Given the description of an element on the screen output the (x, y) to click on. 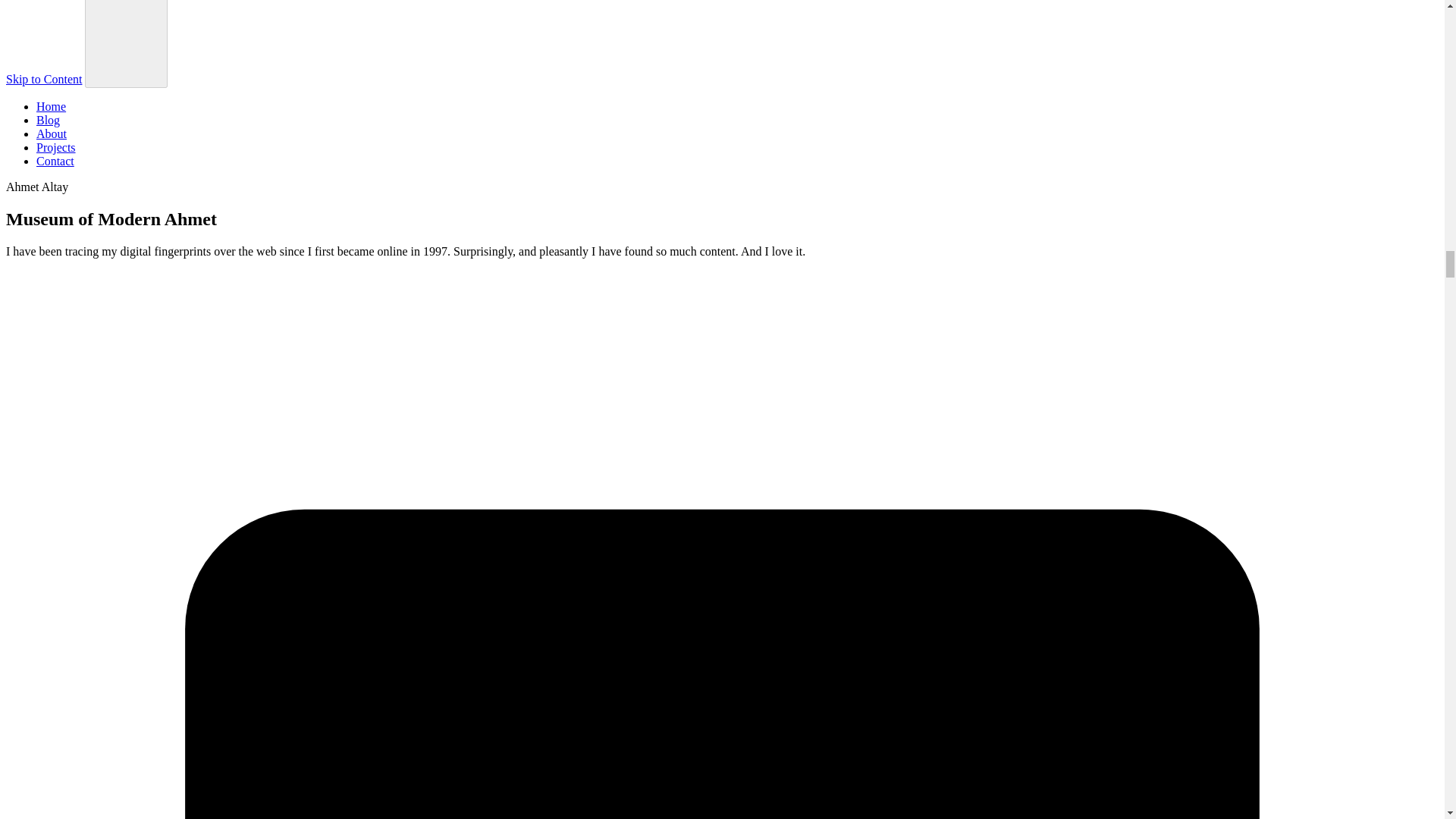
Toggle Sidebar (125, 43)
Contact (55, 160)
Blog (47, 119)
Skip to Content (43, 78)
Projects (55, 146)
About (51, 133)
Home (50, 106)
